Given the description of an element on the screen output the (x, y) to click on. 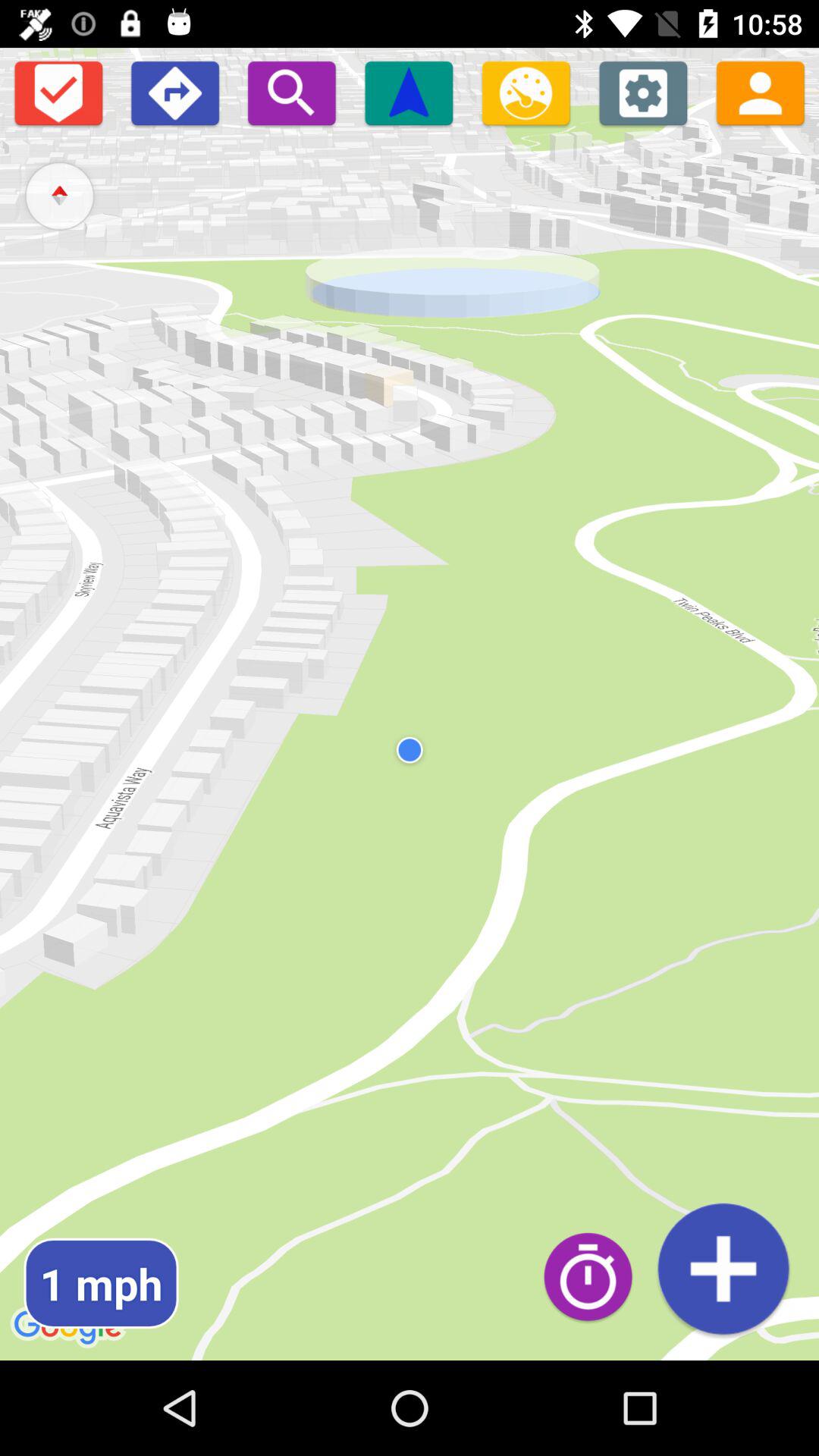
settings page (642, 92)
